Given the description of an element on the screen output the (x, y) to click on. 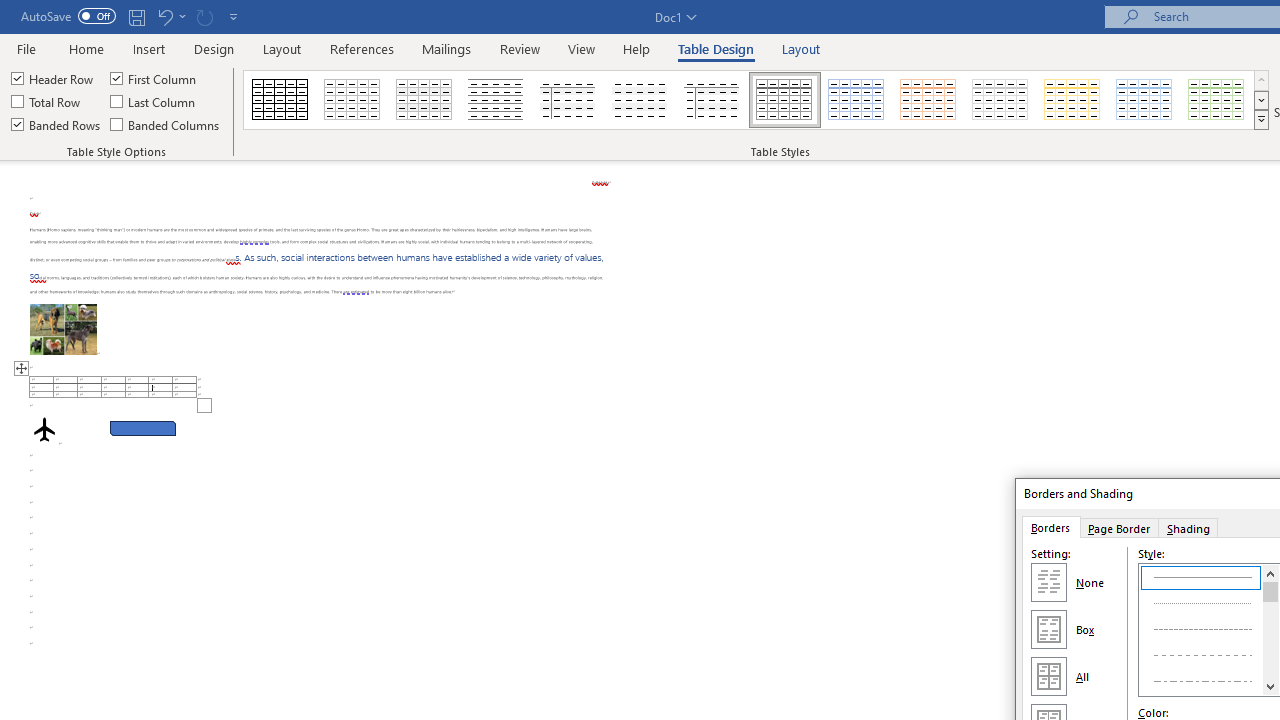
Shading (1188, 527)
Box (1048, 628)
Grid Table 1 Light (784, 100)
AutomationID: TableStylesGalleryWord (756, 99)
Banded Columns (166, 124)
Row Down (1261, 100)
AutomationID: 37 (1270, 629)
Rectangle: Diagonal Corners Snipped 2 (143, 428)
Plain Table 4 (641, 100)
Plain Table 5 (712, 100)
Can't Repeat (204, 15)
Insert (149, 48)
Customize Quick Access Toolbar (234, 15)
Undo Row Height Spinner (170, 15)
View (582, 48)
